Given the description of an element on the screen output the (x, y) to click on. 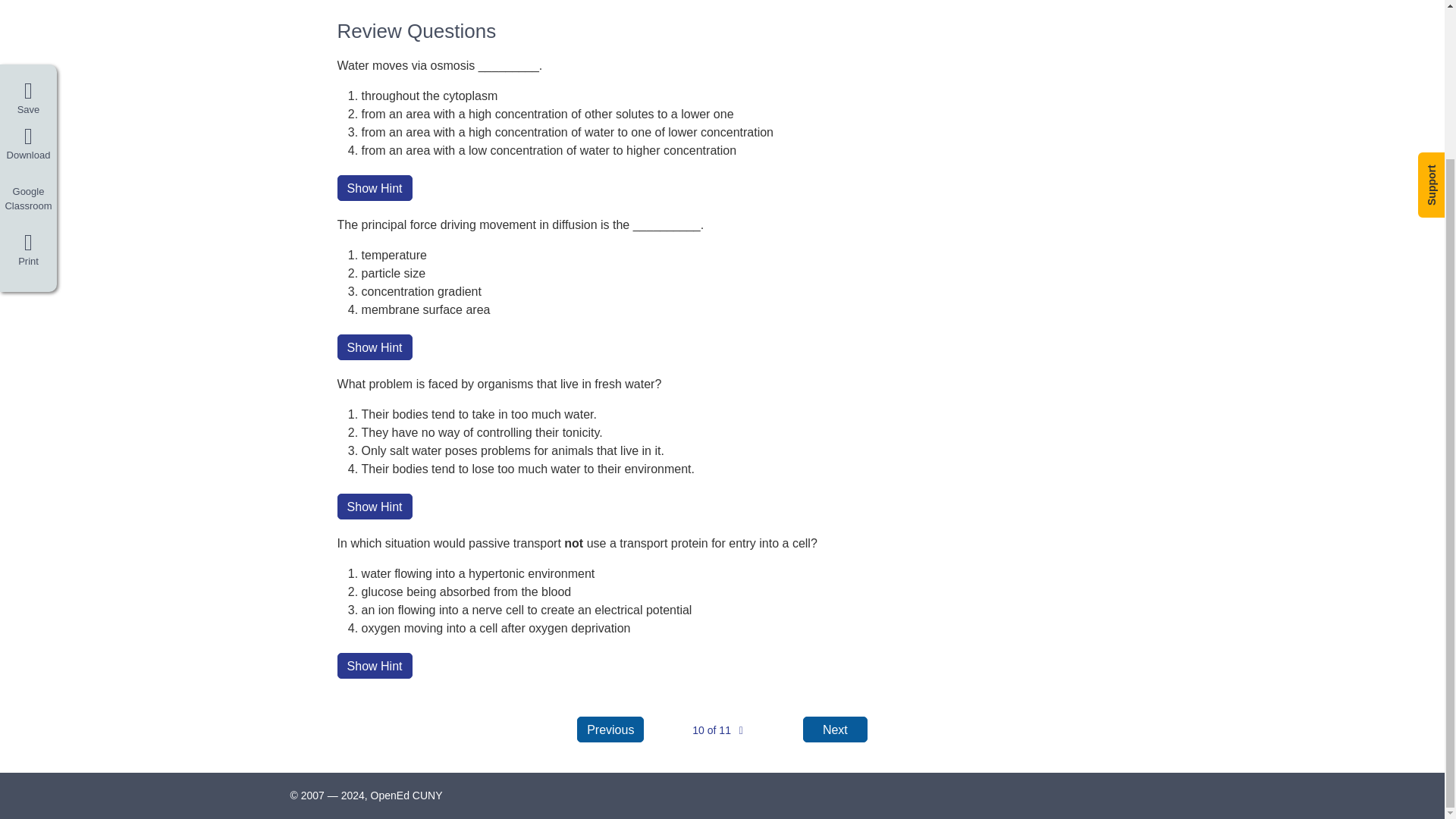
Print (28, 66)
Previous (609, 729)
Google Classroom (28, 22)
